Given the description of an element on the screen output the (x, y) to click on. 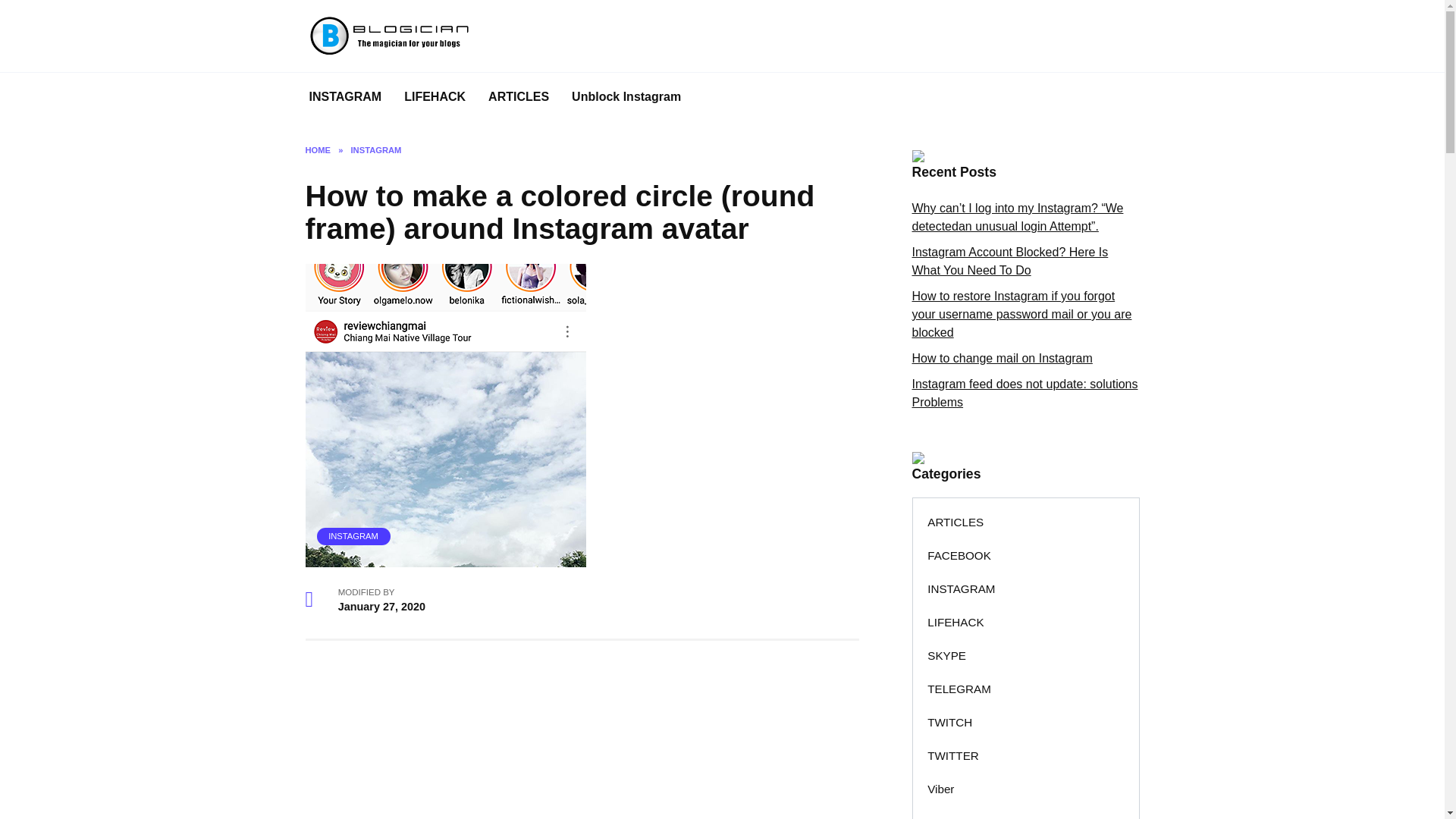
How to change mail on Instagram (1001, 358)
TWITCH (950, 722)
VKONTAKTE (961, 812)
ARTICLES (955, 522)
INSTAGRAM (345, 96)
INSTAGRAM (375, 149)
Instagram feed does not update: solutions Problems (1024, 392)
Unblock Instagram (626, 96)
SKYPE (946, 655)
Viber (940, 789)
